Given the description of an element on the screen output the (x, y) to click on. 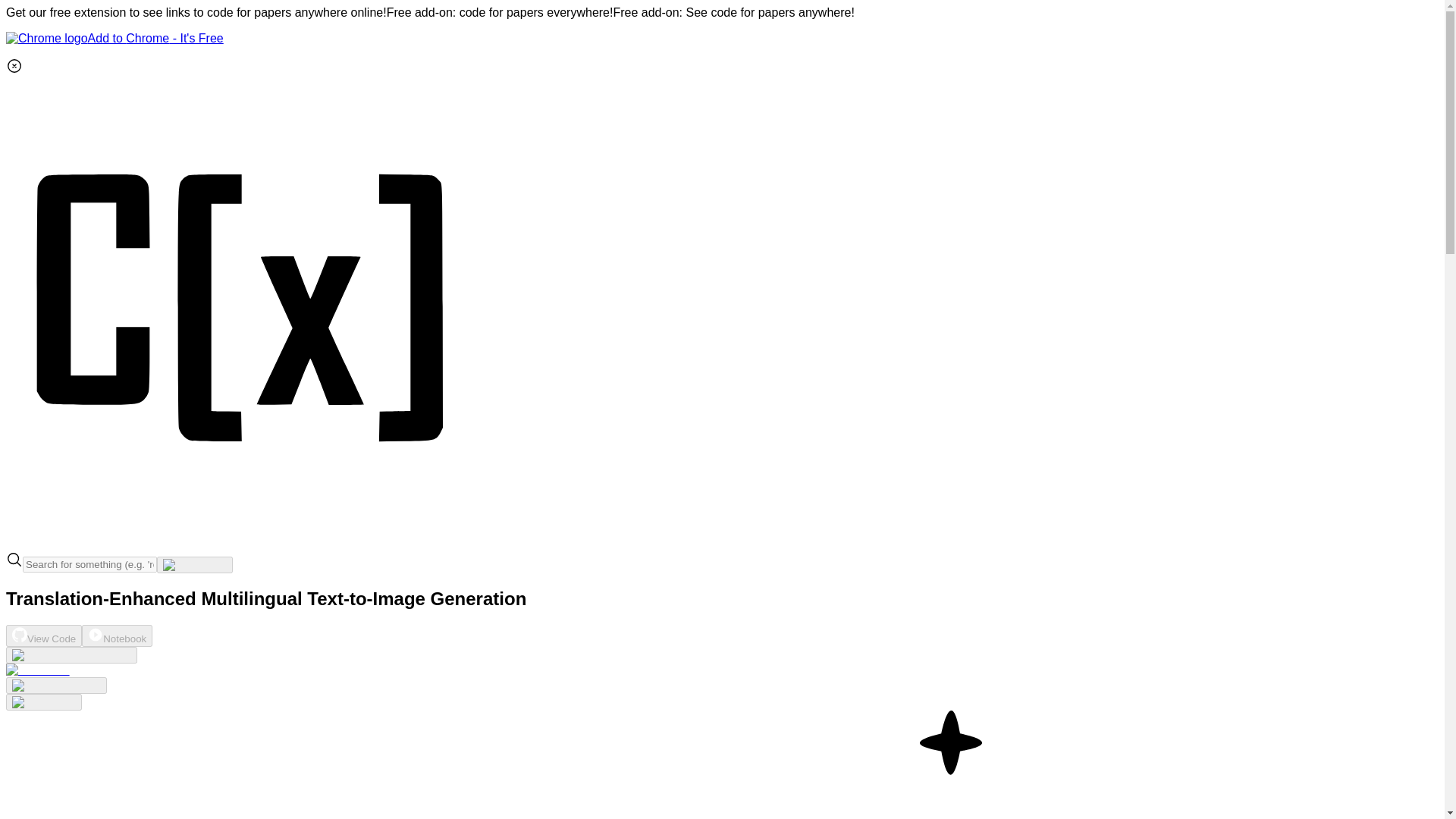
Play Icon (95, 634)
Get alerts when new code is available for this paper (43, 701)
CatalyzeX Icon (241, 543)
Github IconView Code (43, 635)
Bookmark this paper (55, 685)
View code for similar papers (71, 654)
Search Icon (14, 559)
Contribute your code for this paper to the community (37, 670)
Github Icon (19, 634)
Play IconNotebook (116, 635)
